Given the description of an element on the screen output the (x, y) to click on. 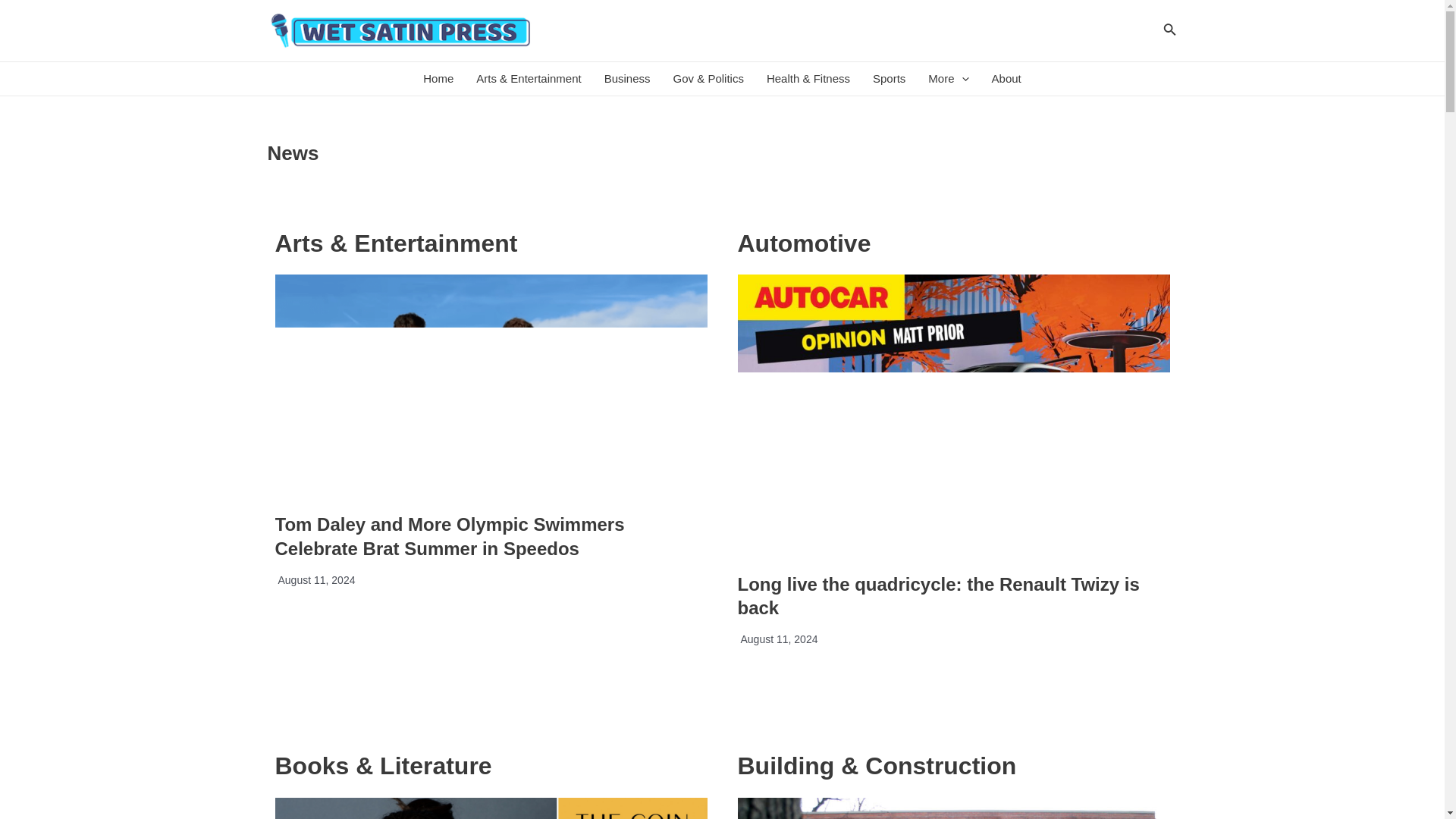
More (948, 78)
Sports (889, 78)
Business (627, 78)
Home (438, 78)
About (1005, 78)
